Given the description of an element on the screen output the (x, y) to click on. 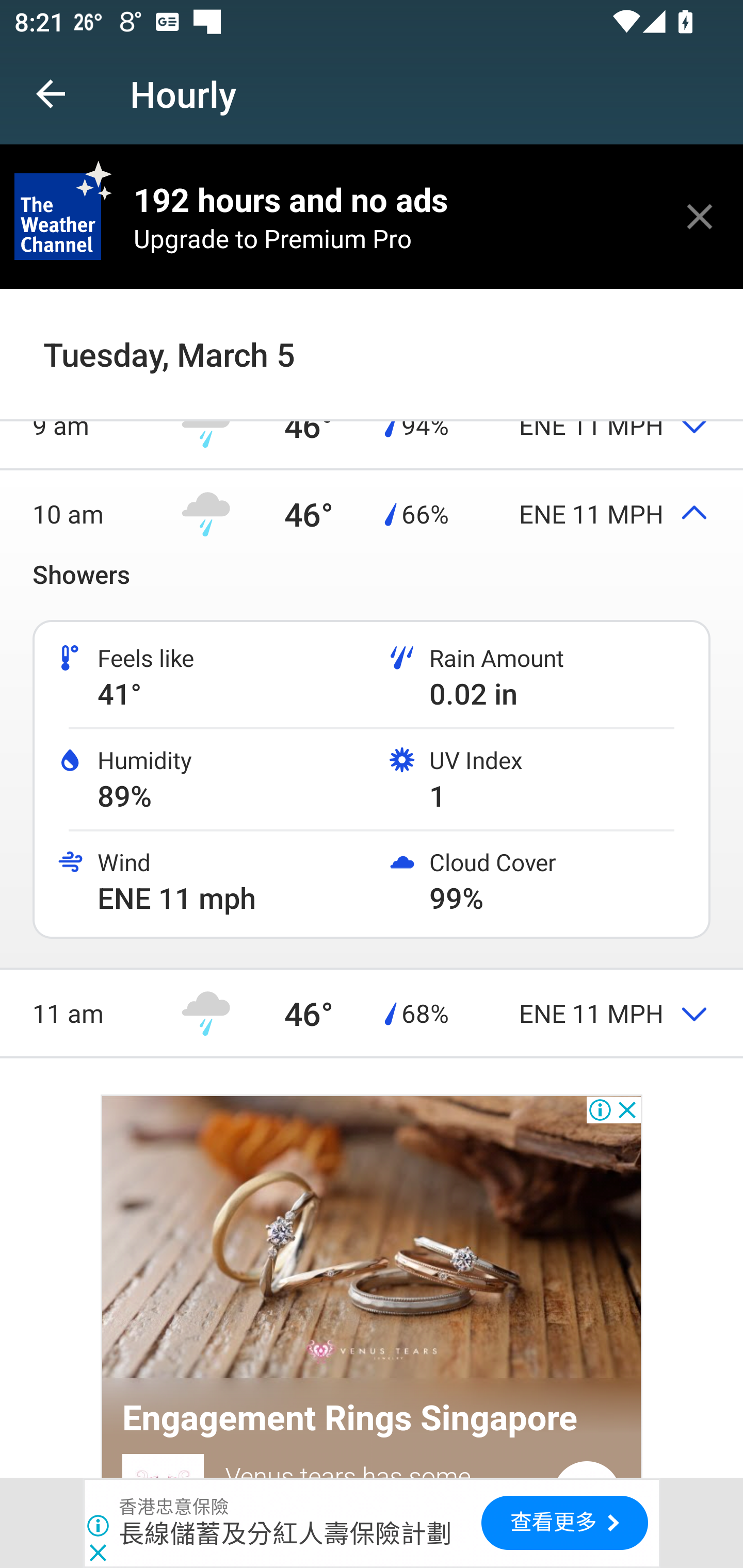
Navigate up (50, 93)
close this (699, 216)
8 am 46° 100% ENE 10 MPH (371, 336)
9 am 46° 94% ENE 11 MPH (371, 424)
10 am 46° 66% ENE 11 MPH (371, 513)
11 am 46° 68% ENE 11 MPH (371, 1012)
venus-tears (371, 1239)
Engagement Rings Singapore (349, 1418)
香港忠意保險 (174, 1507)
查看更多 (564, 1522)
長線儲蓄及分紅人壽保險計劃 (285, 1533)
